Given the description of an element on the screen output the (x, y) to click on. 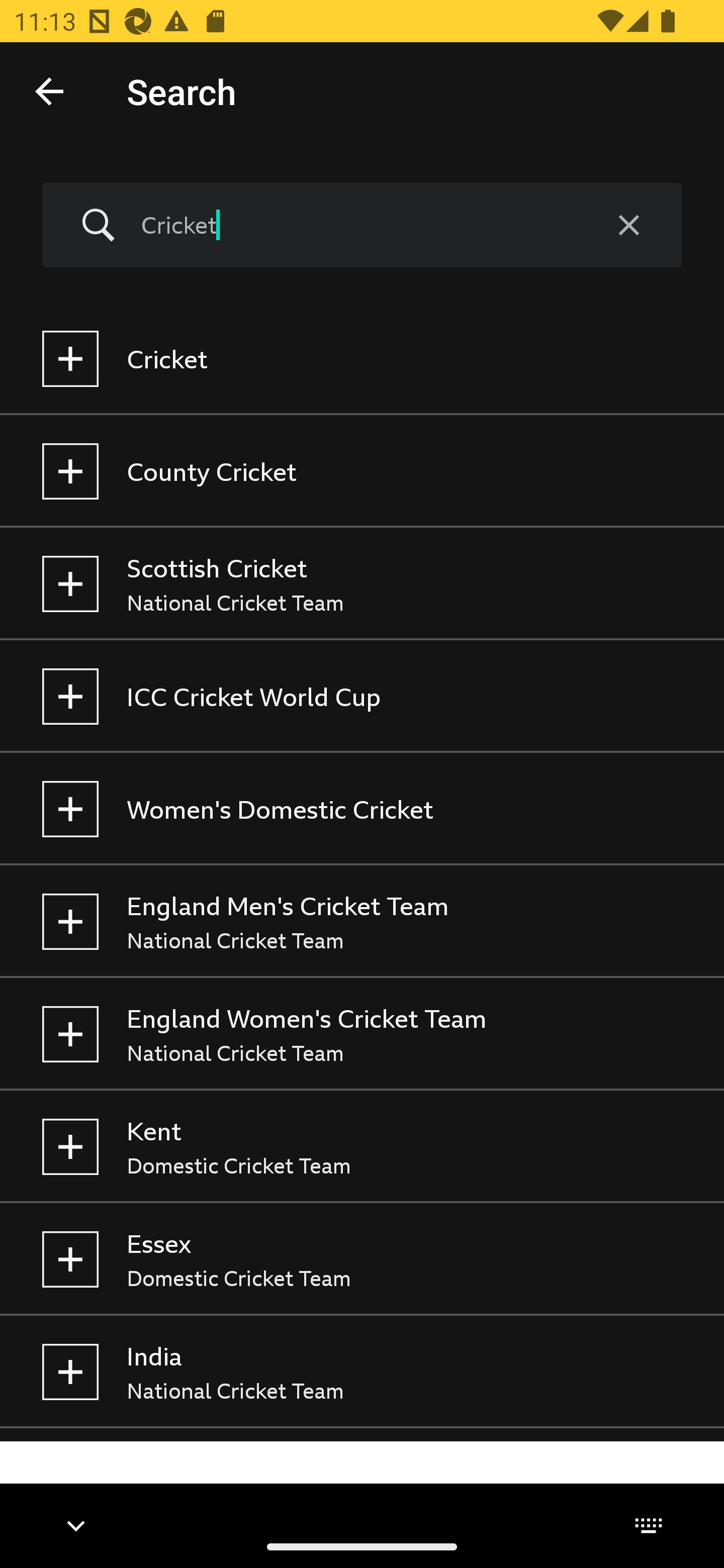
Done (49, 90)
Cricket Clear query (361, 225)
Clear query (628, 225)
Cricket (358, 224)
Cricket (362, 358)
County Cricket (362, 471)
ICC Cricket World Cup (362, 695)
Women's Domestic Cricket (362, 808)
